Given the description of an element on the screen output the (x, y) to click on. 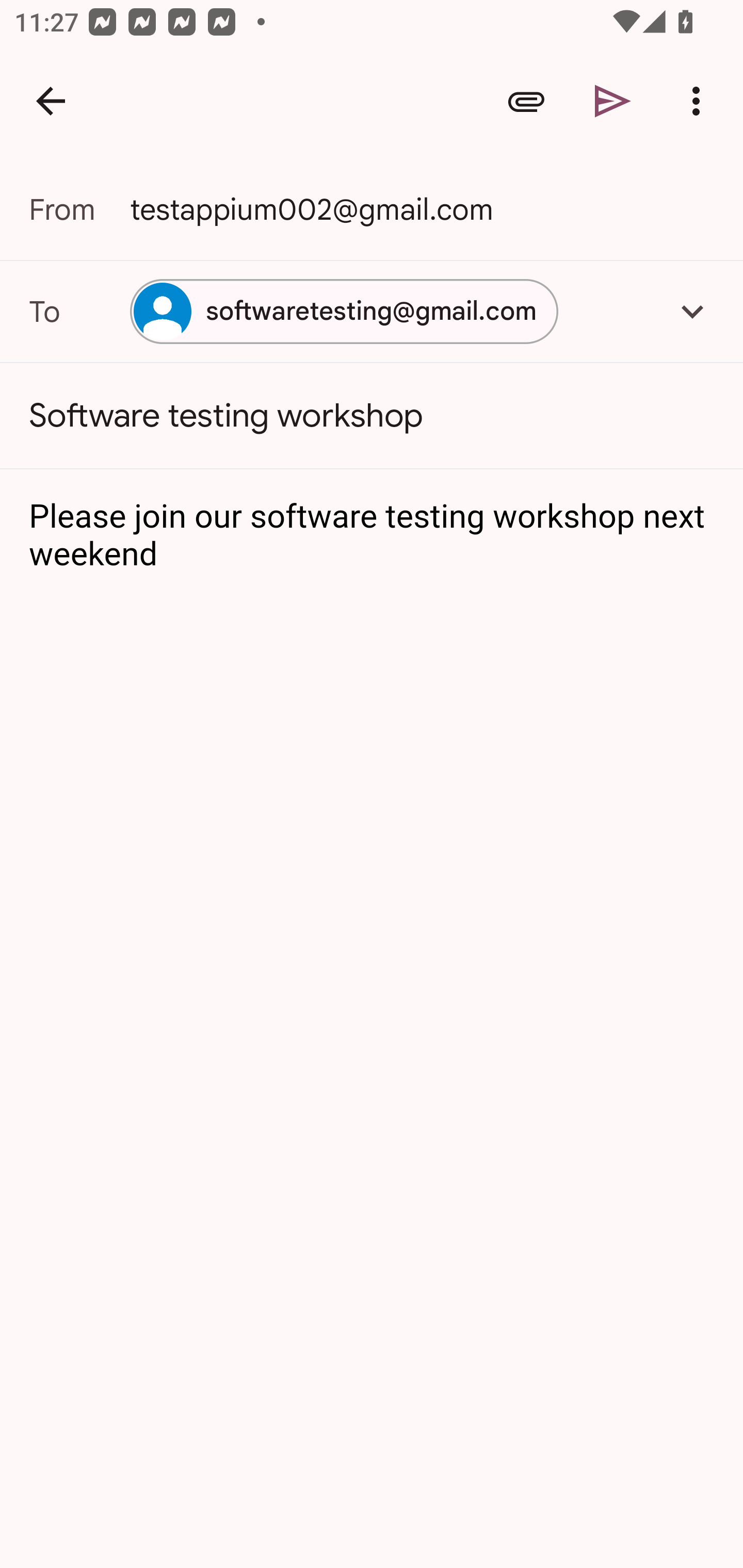
Navigate up (50, 101)
Attach file (525, 101)
Send (612, 101)
More options (699, 101)
From (79, 209)
Add Cc/Bcc (692, 311)
Software testing workshop (371, 415)
